Given the description of an element on the screen output the (x, y) to click on. 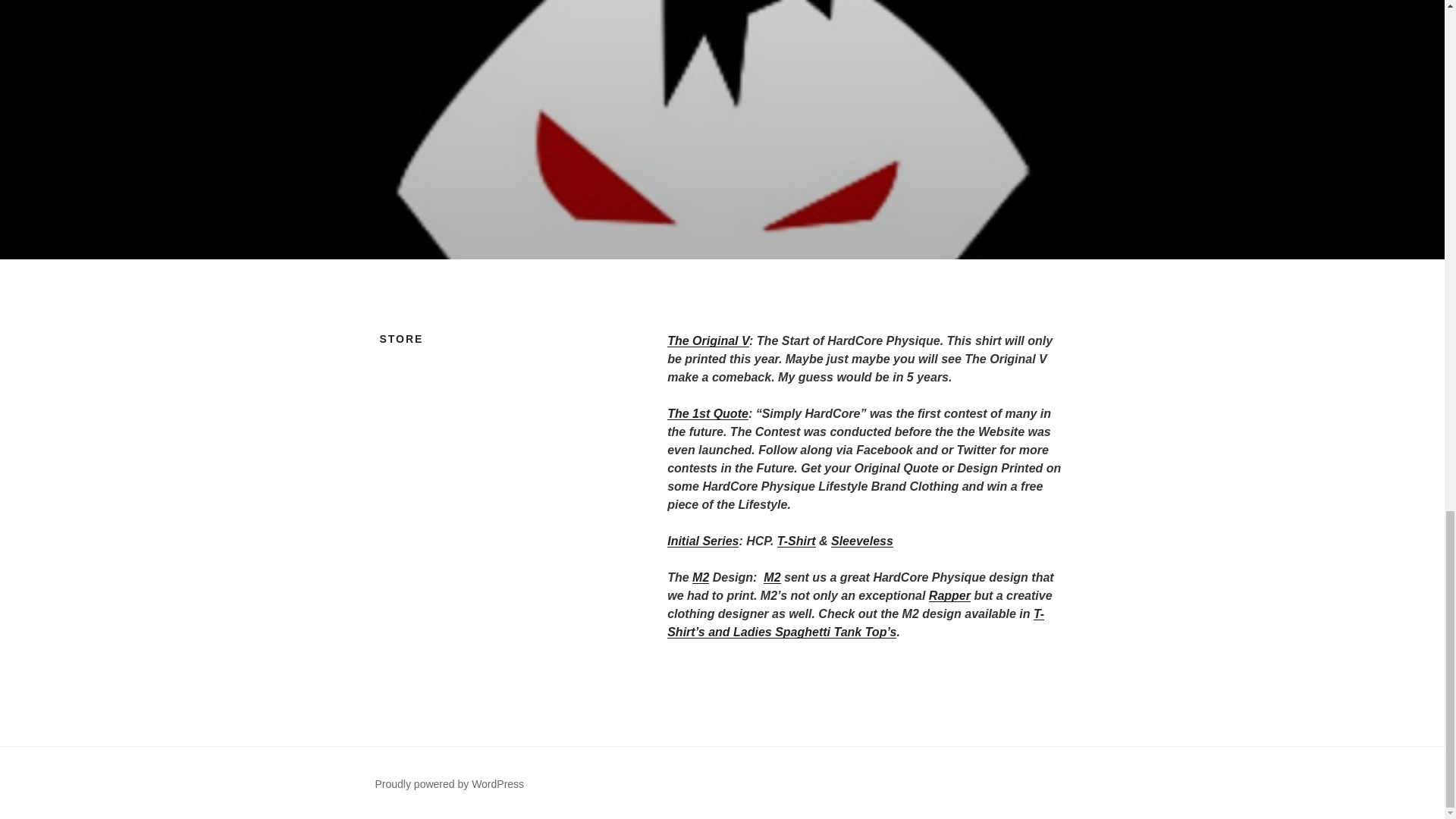
The Original V (707, 340)
Proudly powered by WordPress (449, 784)
The 1st Quote (707, 413)
M2 (771, 576)
Rapper (949, 594)
Initial Series (702, 540)
M2 (701, 576)
T-Shirt (796, 540)
Sleeveless (862, 540)
